Given the description of an element on the screen output the (x, y) to click on. 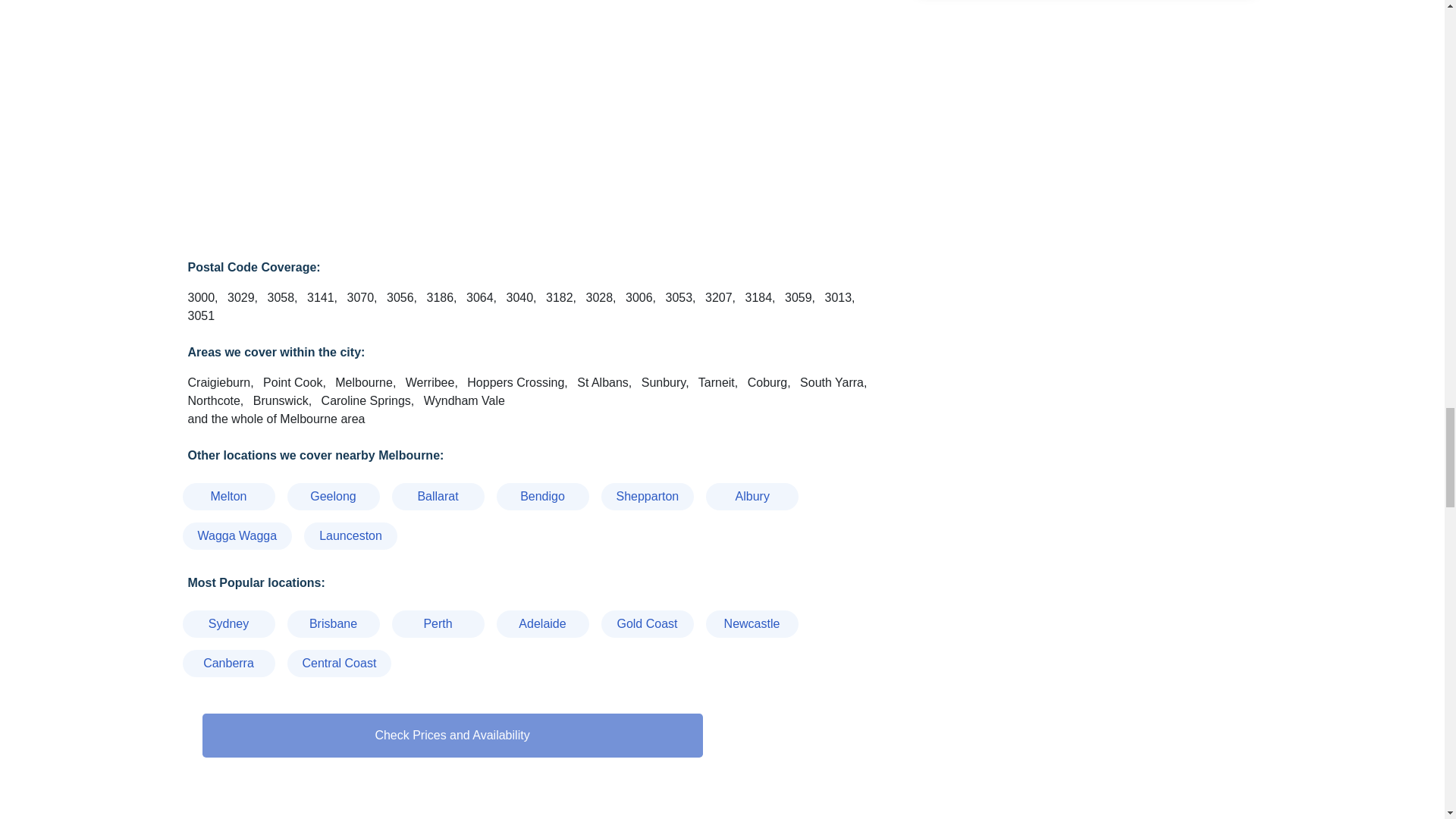
Lawn Mowing - Gold Coast (646, 624)
Lawn Mowing - Melton (228, 496)
Lawn Mowing - Adelaide (542, 624)
Geelong (332, 496)
Lawn Mowing - Sydney (228, 624)
Lawn Mowing - Ballarat  (437, 496)
Melton (228, 496)
Lawn Mowing - Shepparton (646, 496)
Lawn Mowing - Geelong (332, 496)
Lawn Mowing - Albury (751, 496)
Lawn Mowing - Brisbane (332, 624)
Lawn Mowing - Wagga Wagga (237, 535)
Lawn Mowing - Perth (437, 624)
Lawn Mowing - Launceston (350, 535)
Lawn Mowing - Bendigo (542, 496)
